Given the description of an element on the screen output the (x, y) to click on. 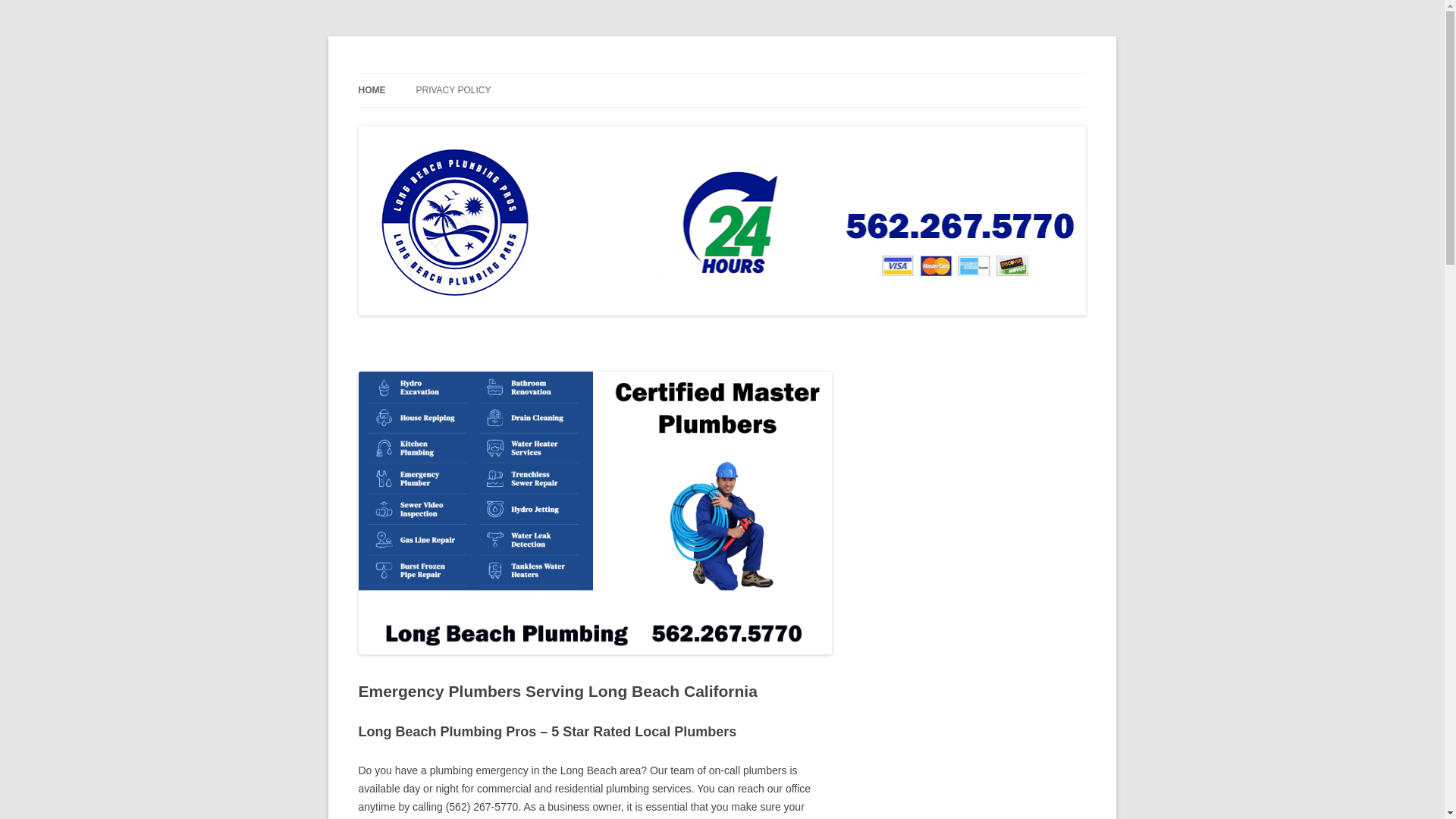
Long Beach California Emergency Plumbers (566, 72)
Long Beach California Emergency Plumbers (566, 72)
PRIVACY POLICY (452, 90)
